Given the description of an element on the screen output the (x, y) to click on. 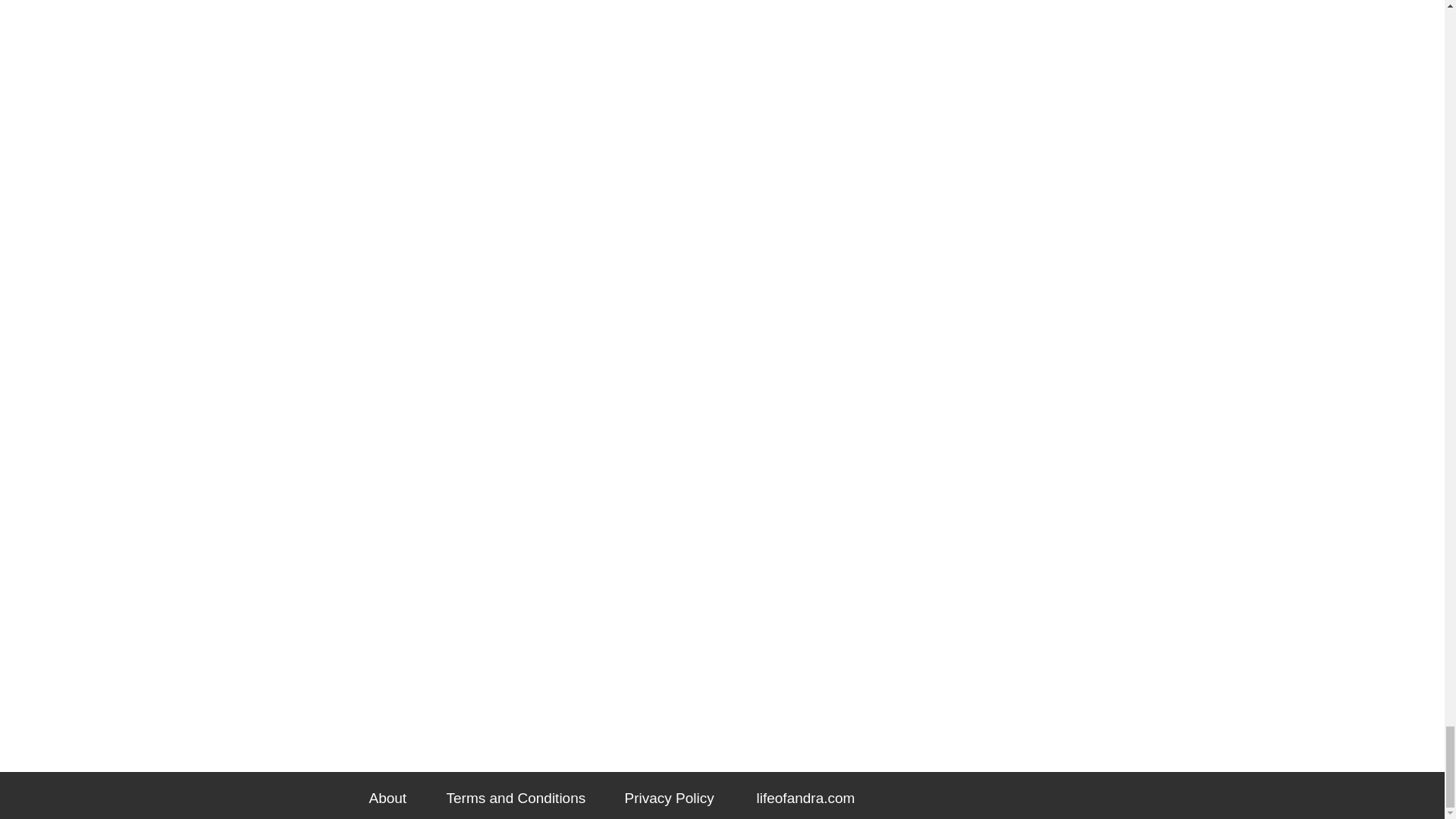
About (387, 797)
